Given the description of an element on the screen output the (x, y) to click on. 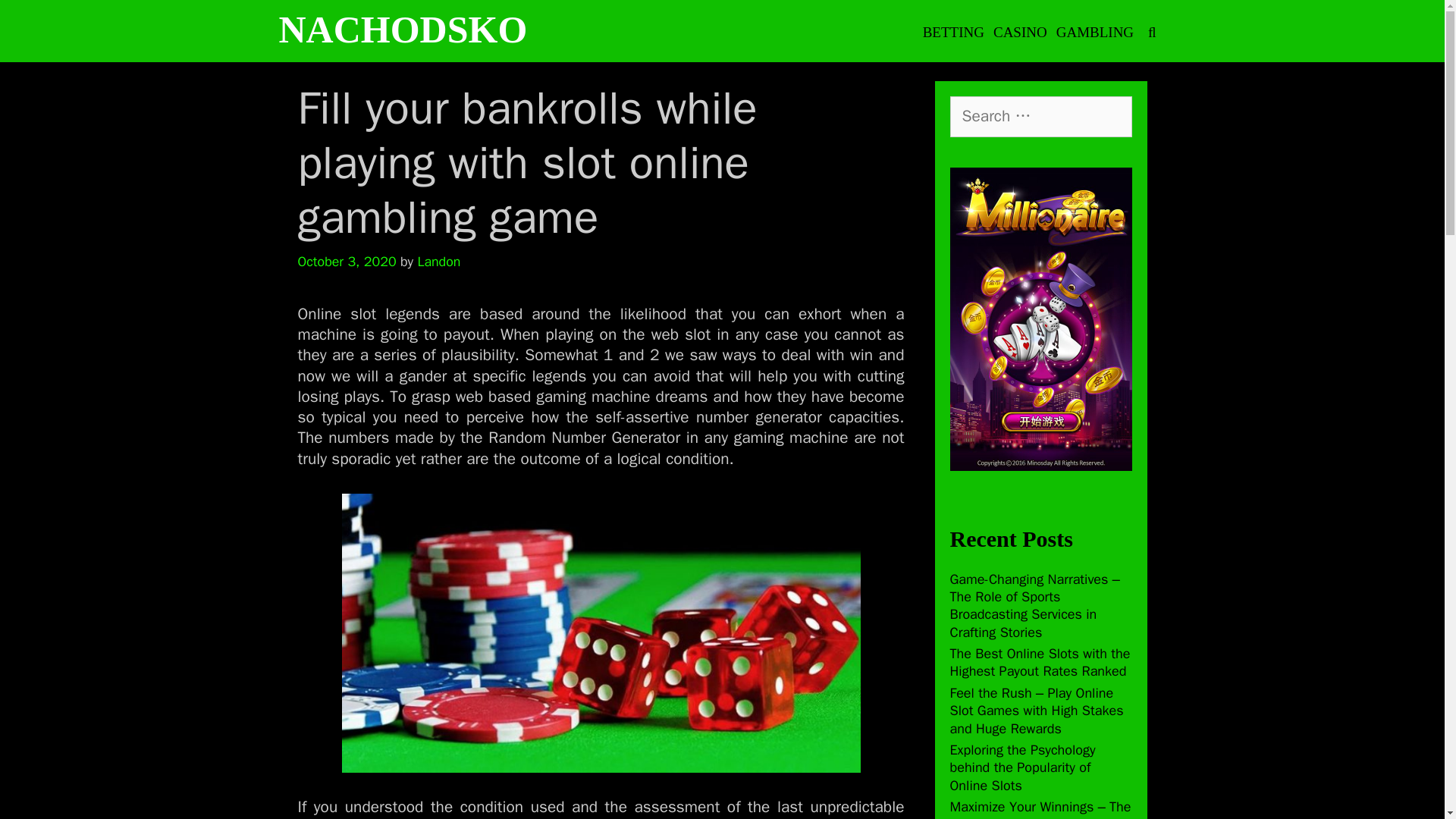
Landon (438, 261)
BETTING (953, 31)
GAMBLING (1094, 31)
The Best Online Slots with the Highest Payout Rates Ranked (1039, 662)
NACHODSKO (403, 29)
Search (37, 20)
Search (123, 27)
Search for: (1040, 116)
niki game (869, 818)
View all posts by Landon (438, 261)
4:00 am (346, 261)
October 3, 2020 (346, 261)
CASINO (1019, 31)
